Given the description of an element on the screen output the (x, y) to click on. 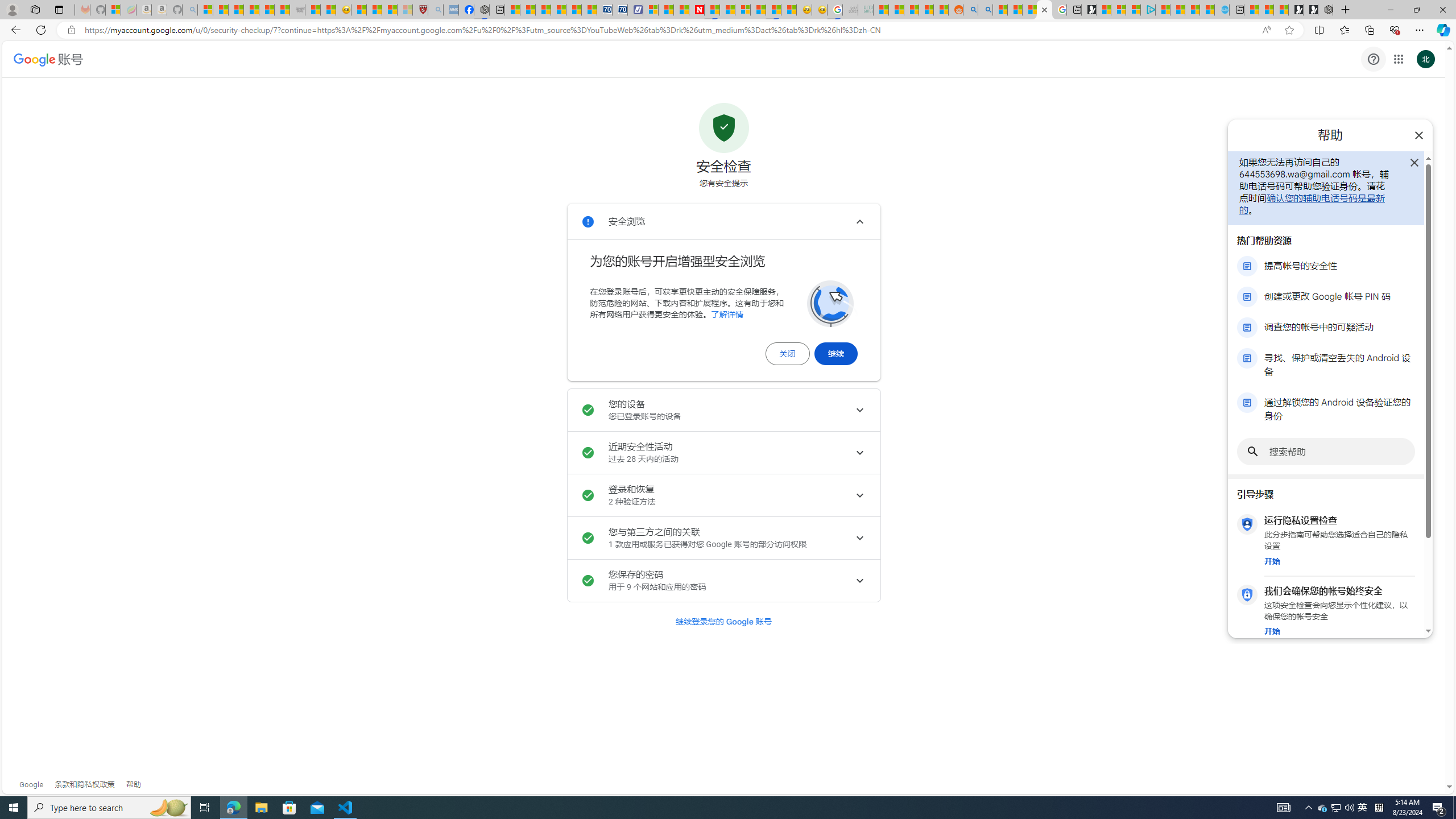
Newsweek - News, Analysis, Politics, Business, Technology (696, 9)
Robert H. Shmerling, MD - Harvard Health (419, 9)
